Given the description of an element on the screen output the (x, y) to click on. 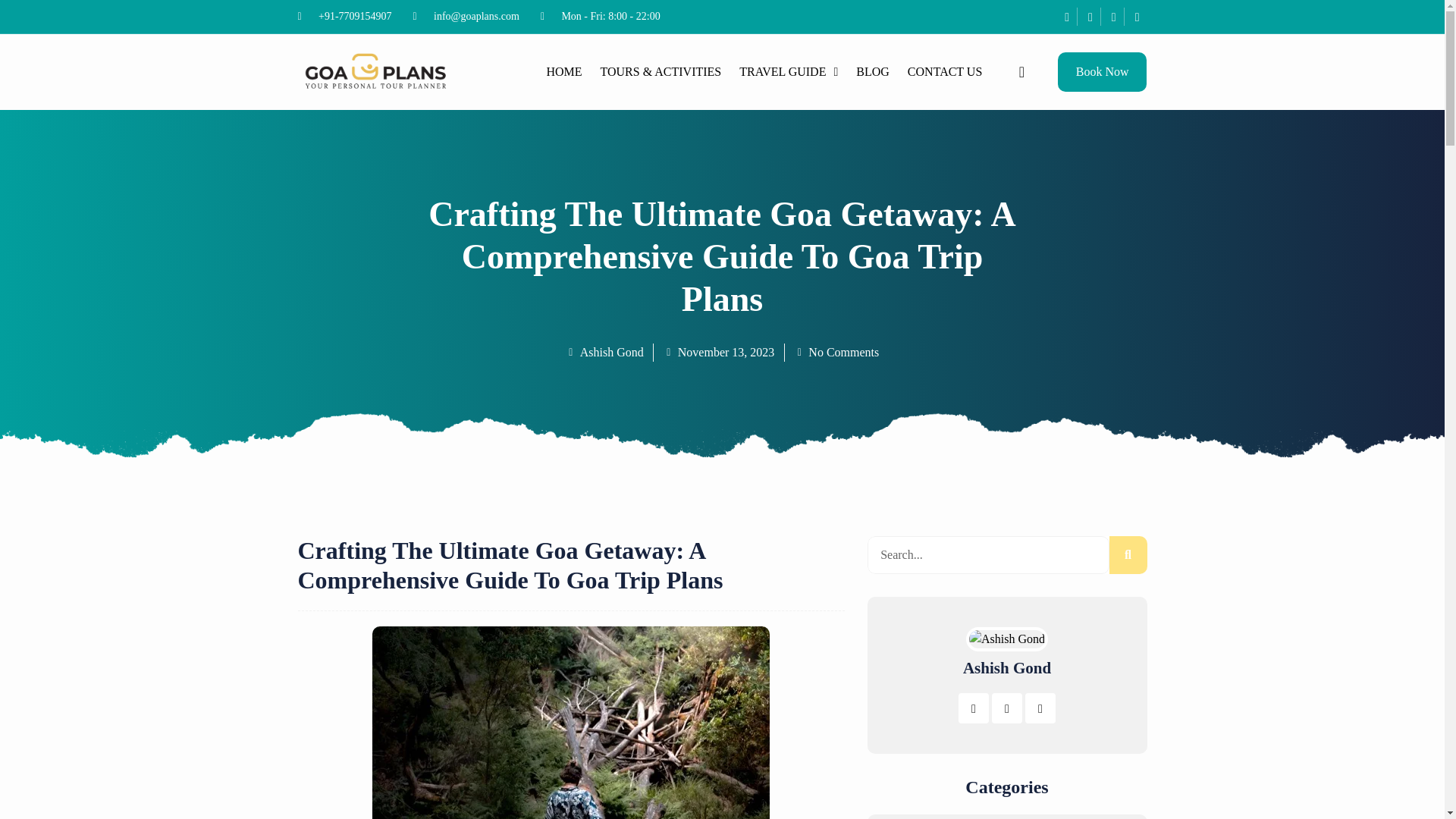
Skip to content (15, 7)
Book Now (1102, 71)
Ashish Gond (604, 352)
HOME (564, 72)
November 13, 2023 (718, 352)
CONTACT US (944, 72)
Search (988, 555)
No Comments (836, 352)
Search (1127, 555)
TRAVEL GUIDE (788, 72)
BLOG (872, 72)
